Given the description of an element on the screen output the (x, y) to click on. 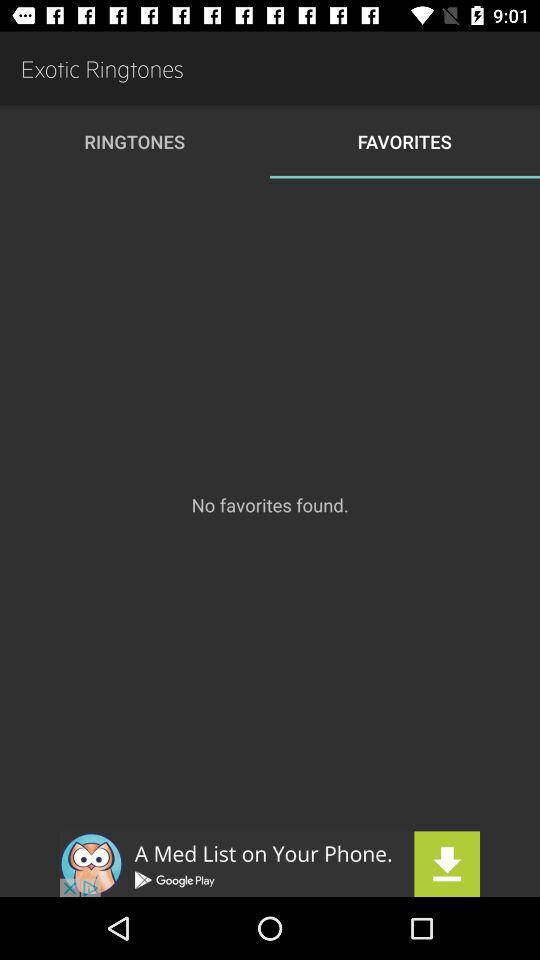
for adverisment (270, 864)
